Given the description of an element on the screen output the (x, y) to click on. 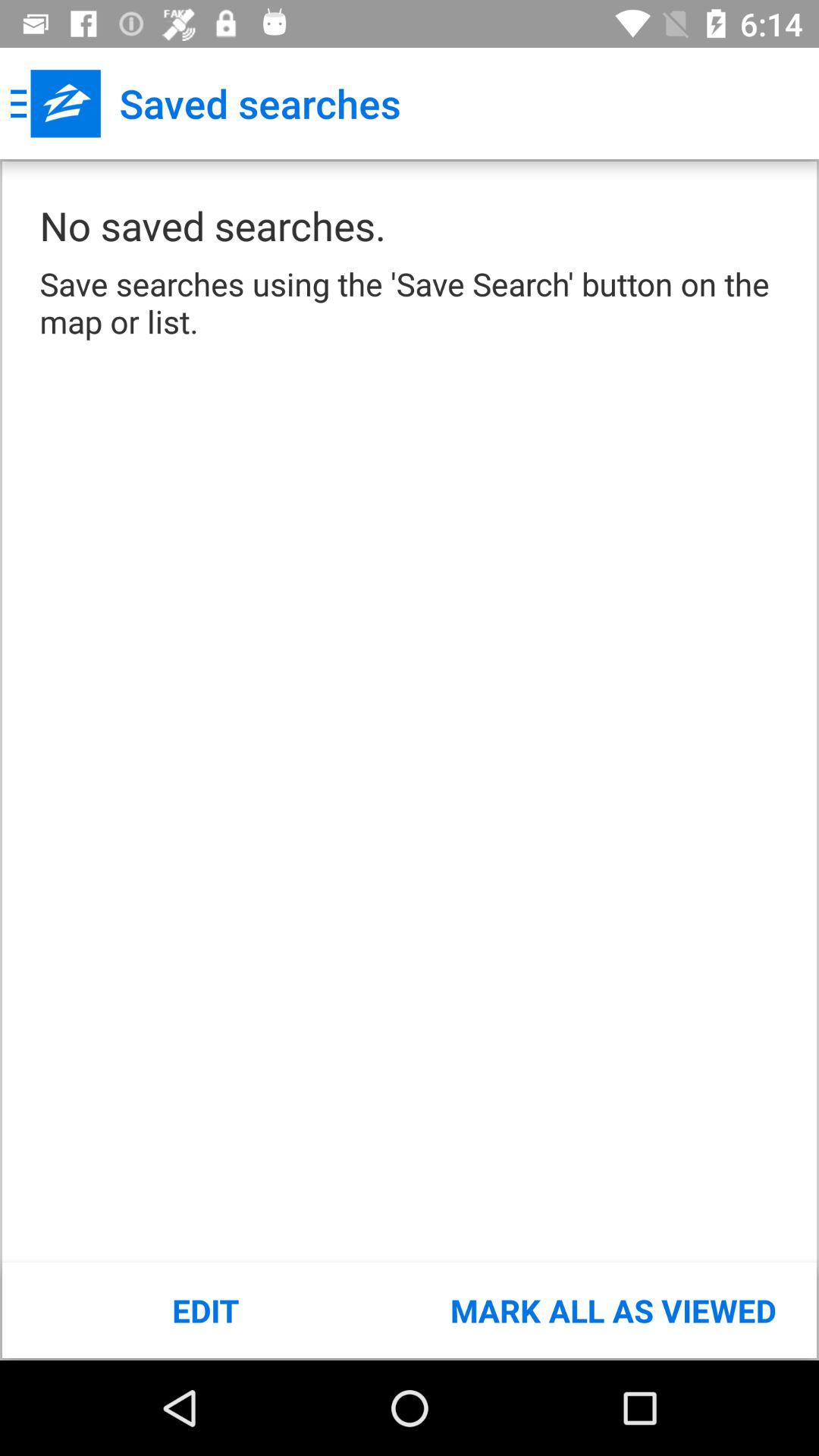
turn off the icon at the bottom left corner (205, 1310)
